Given the description of an element on the screen output the (x, y) to click on. 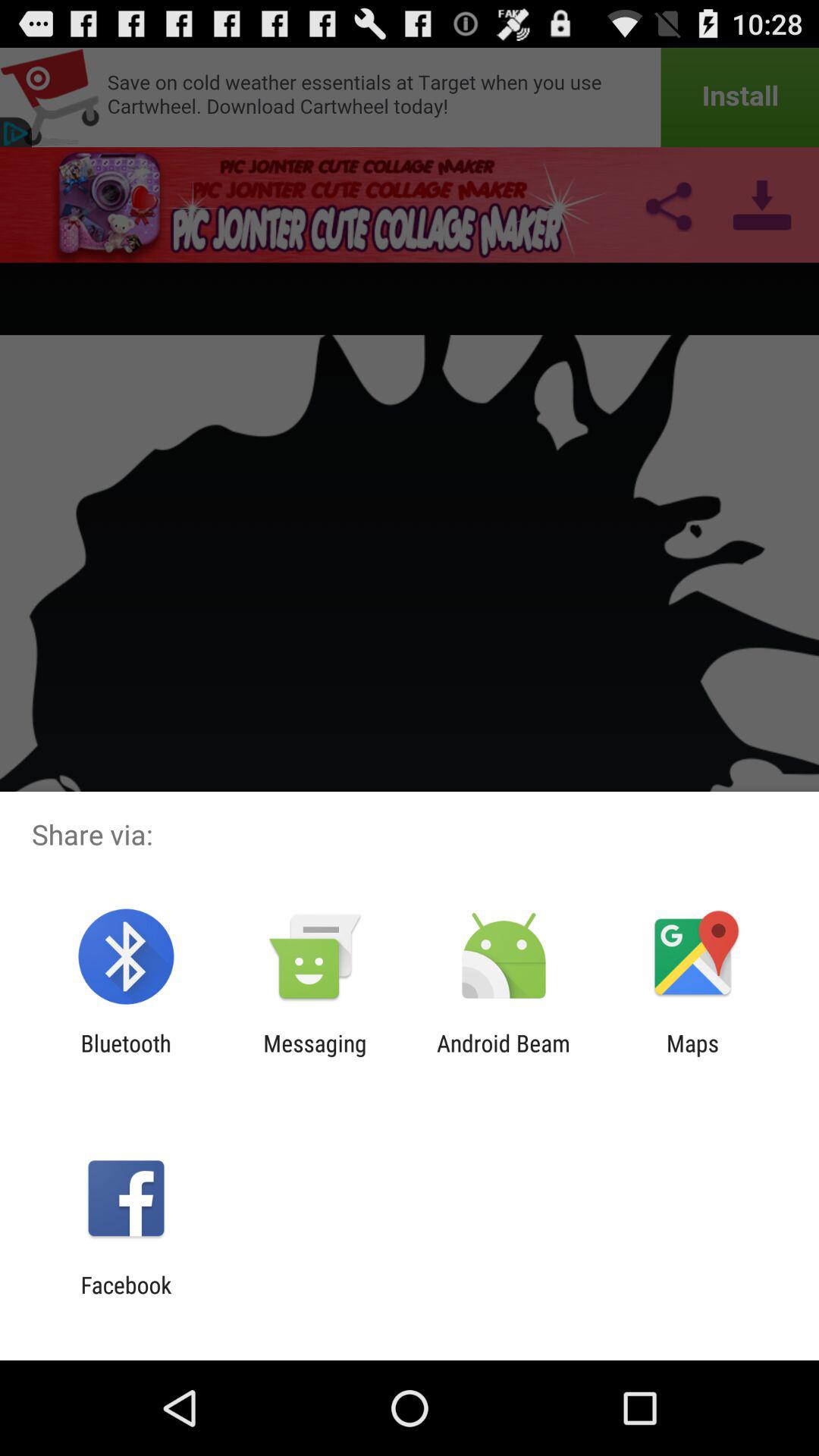
select the icon to the right of the android beam icon (692, 1056)
